Given the description of an element on the screen output the (x, y) to click on. 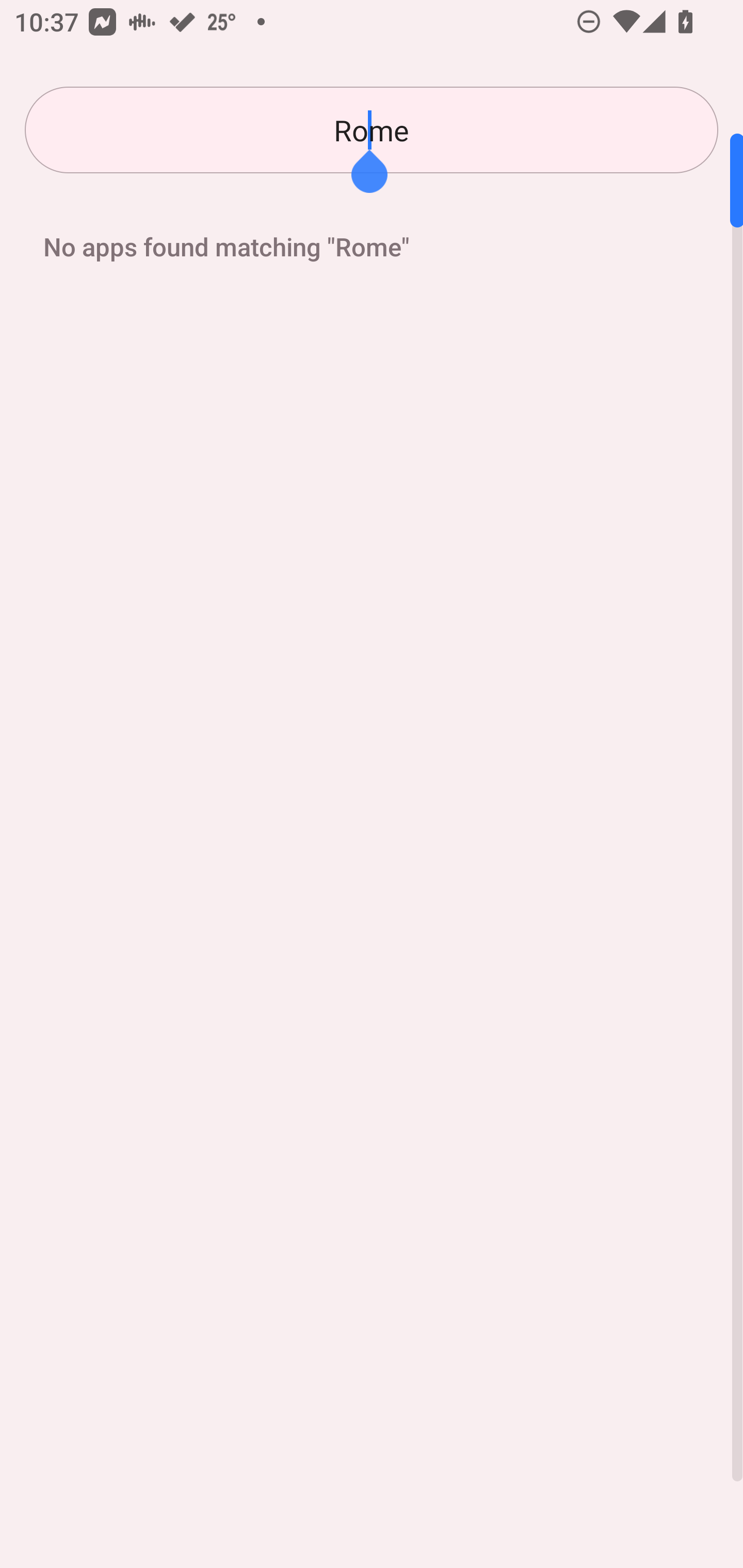
Rome (371, 130)
